Given the description of an element on the screen output the (x, y) to click on. 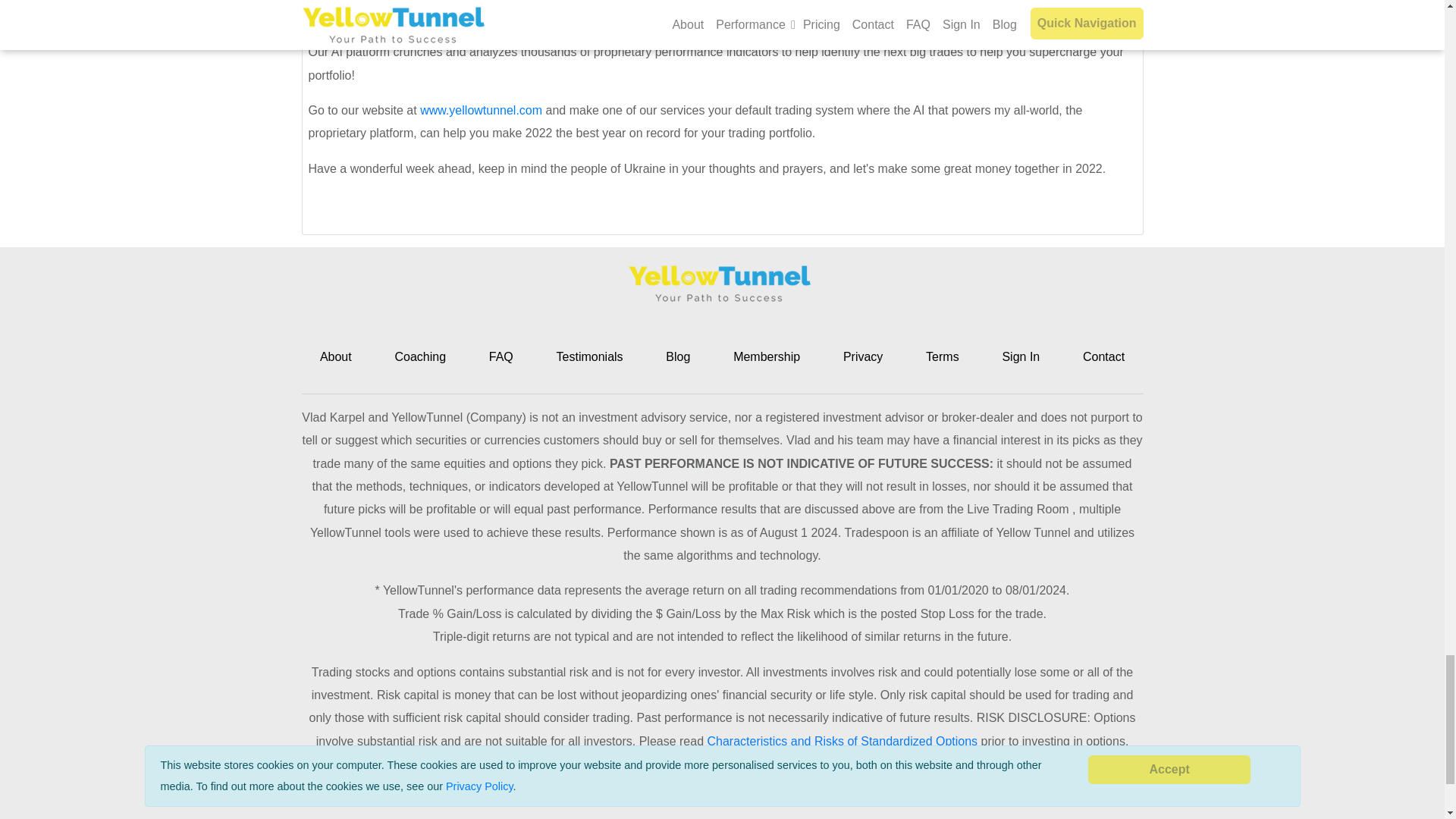
Sign In (1020, 356)
Characteristics and Risks of Standardized Options (841, 740)
Membership (766, 356)
www.yellowtunnel.com (480, 110)
Contact (1103, 356)
Terms (942, 356)
Disclaimer (797, 799)
About (336, 356)
Testimonials (589, 356)
Coaching (419, 356)
